Given the description of an element on the screen output the (x, y) to click on. 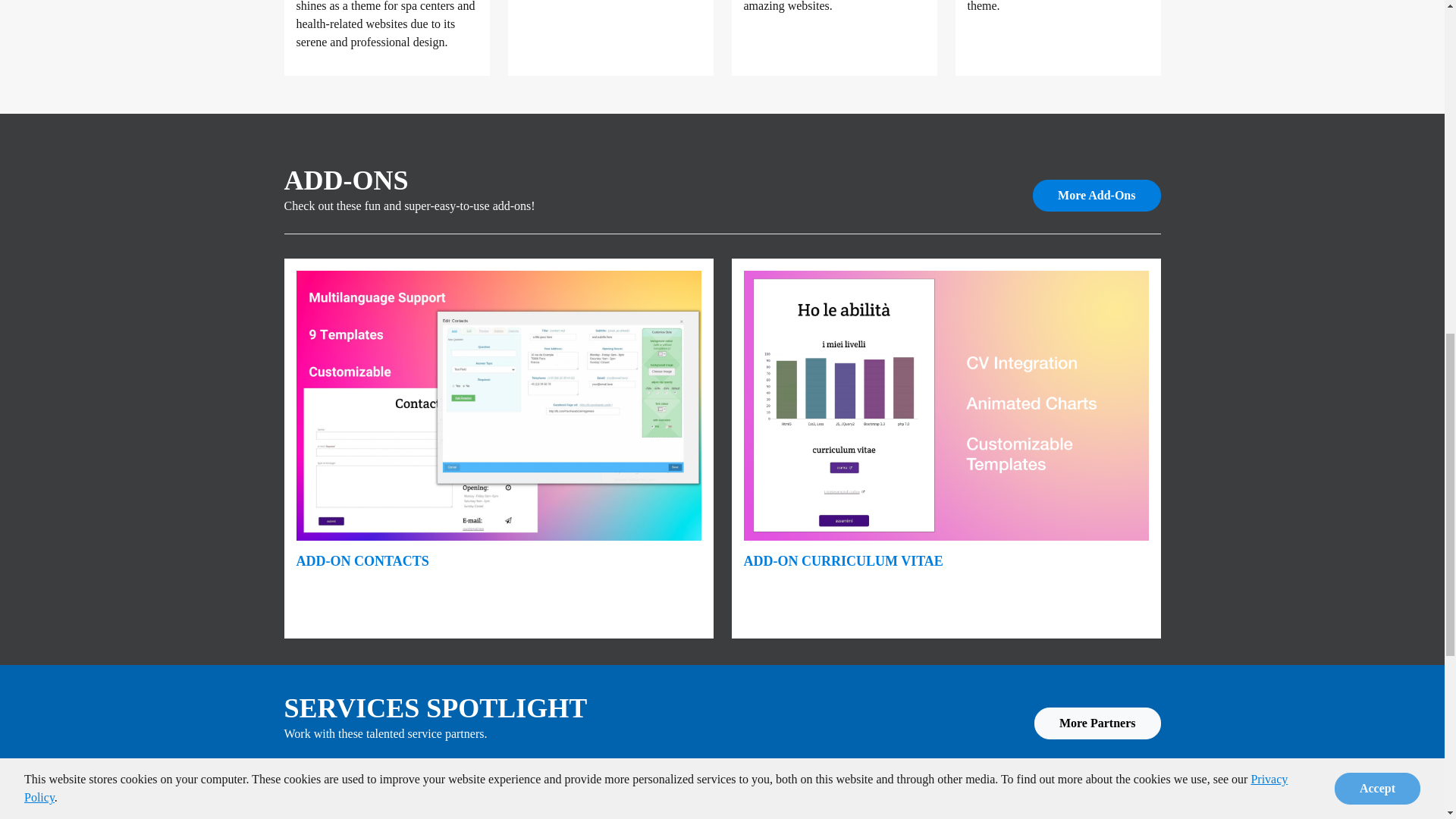
More Add-Ons (1096, 195)
BARKING TUNA (877, 803)
ADD-ON CONTACTS (361, 560)
ADD-ON CURRICULUM VITAE (842, 560)
More Partners (1096, 723)
